Given the description of an element on the screen output the (x, y) to click on. 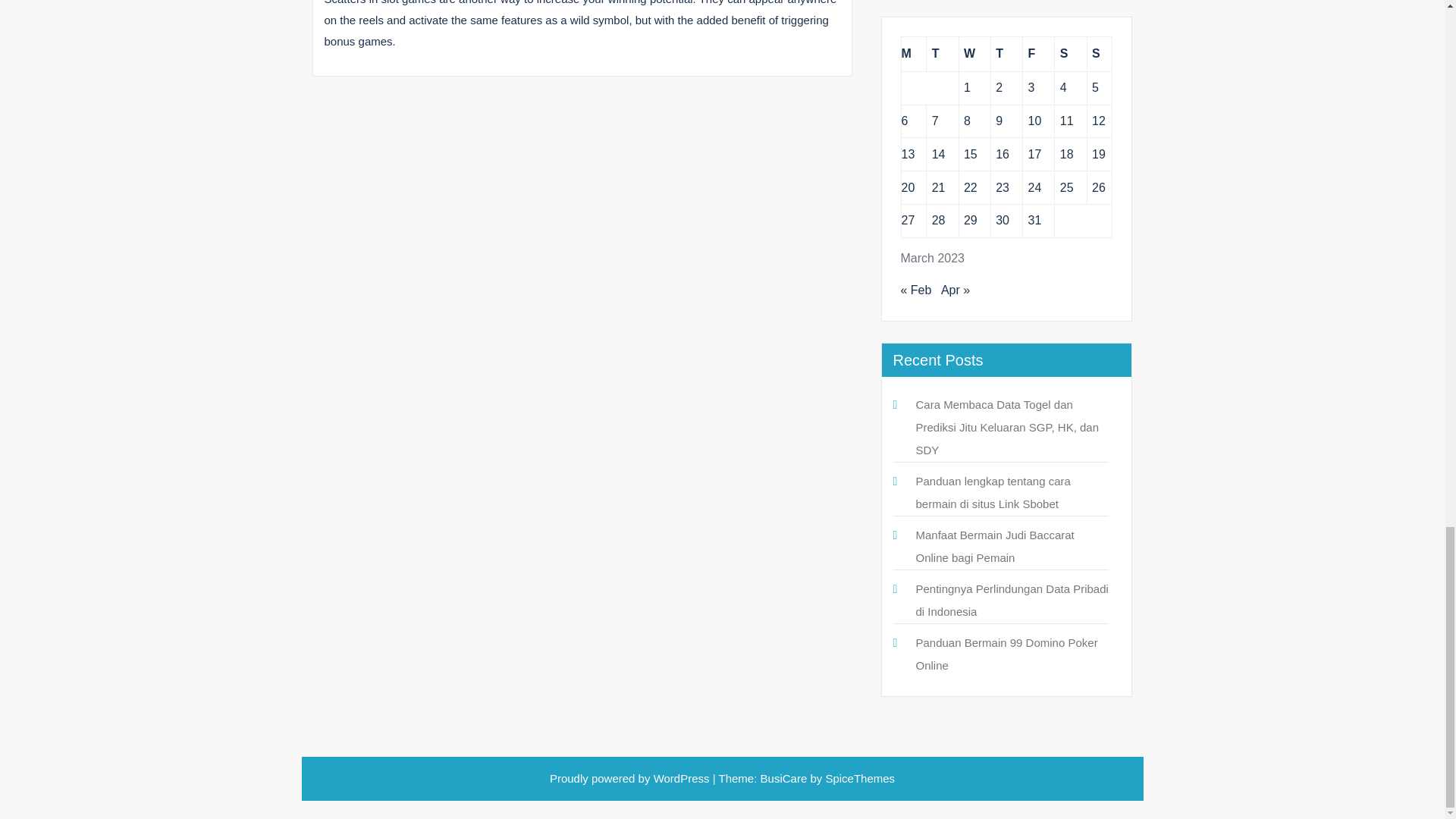
Tuesday (942, 53)
Thursday (1006, 53)
Wednesday (974, 53)
Saturday (1070, 53)
Friday (1038, 53)
